Given the description of an element on the screen output the (x, y) to click on. 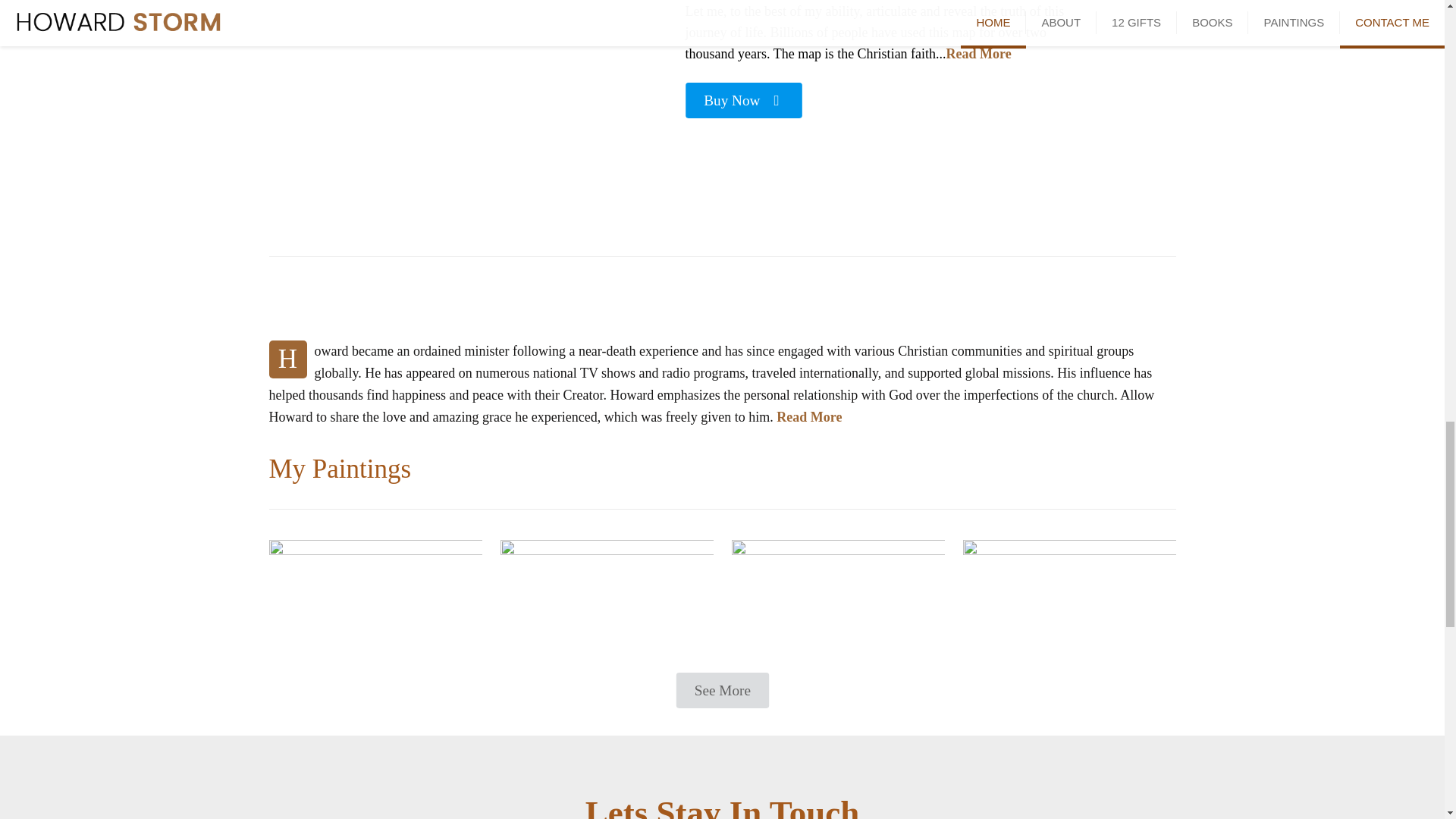
12 Gifts (721, 296)
Books (1030, 296)
See More (713, 686)
About Me (413, 296)
Read More (808, 417)
Buy Now (734, 97)
Read More (978, 53)
